Given the description of an element on the screen output the (x, y) to click on. 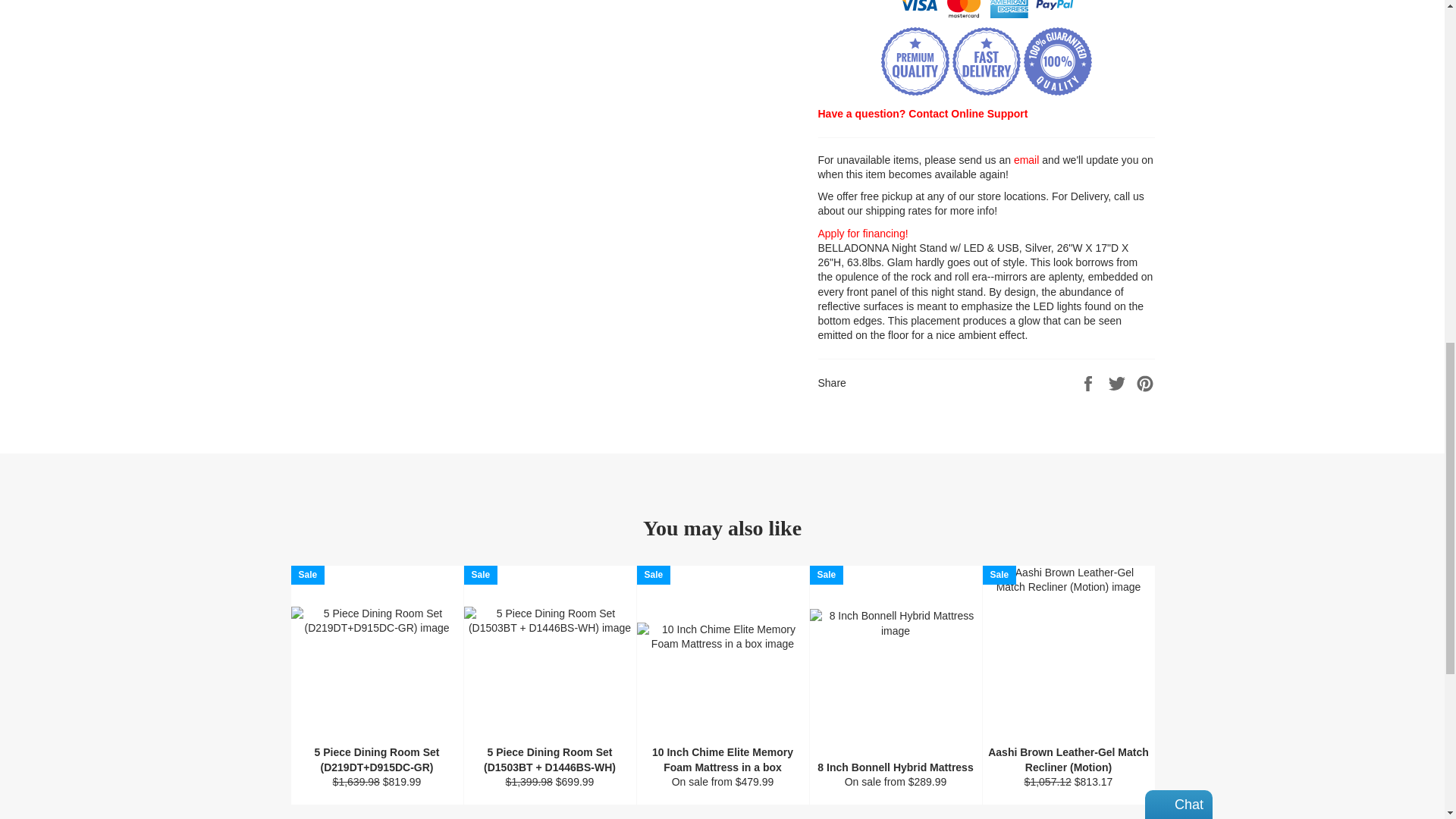
Share on Facebook (1089, 381)
Tweet on Twitter (1118, 381)
Click to popout into a new window (1155, 15)
Click to minimize (1139, 15)
Pin on Pinterest (1144, 381)
